Given the description of an element on the screen output the (x, y) to click on. 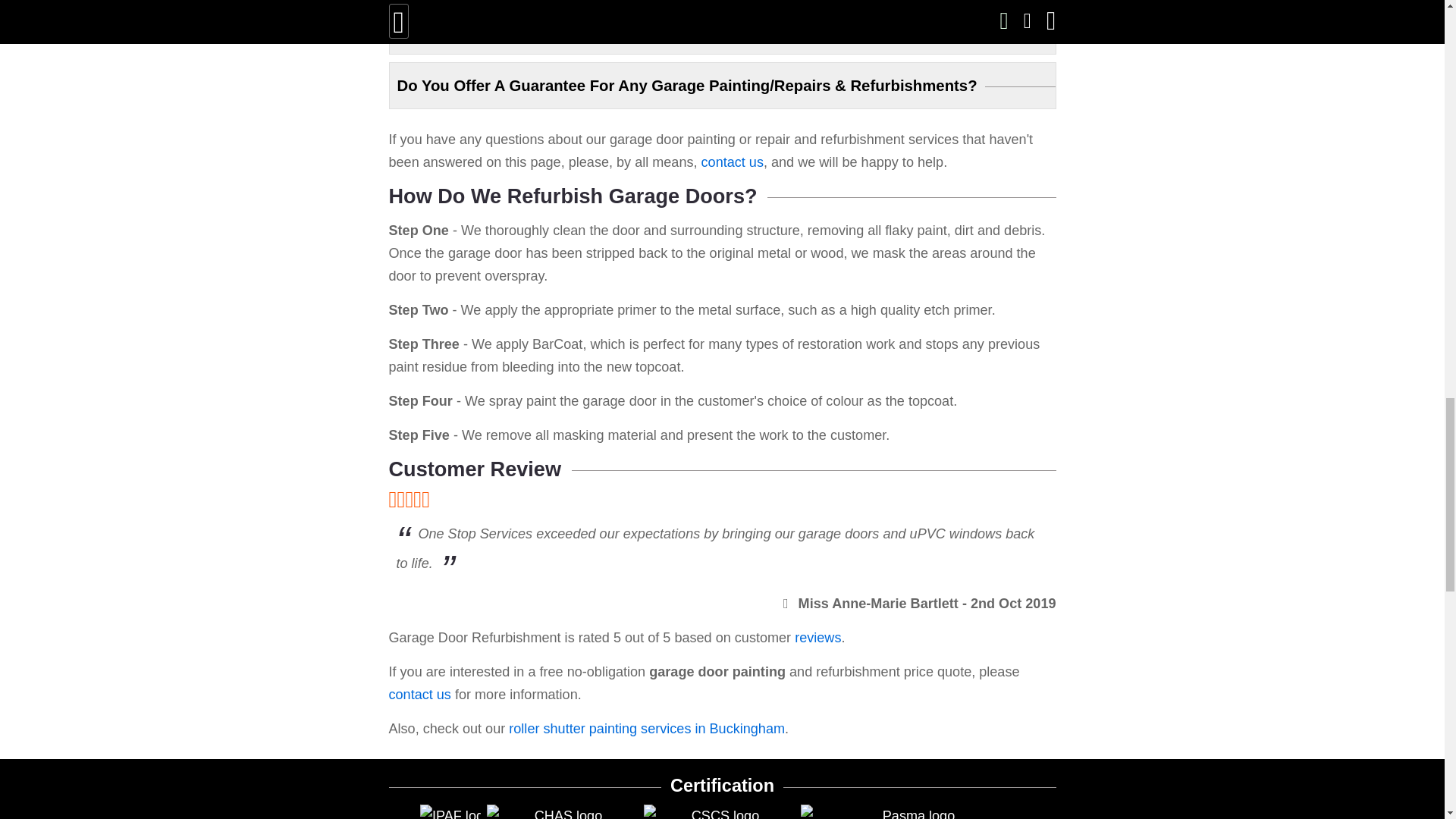
reviews (817, 637)
roller shutter painting services in Buckingham (646, 728)
contact us (731, 161)
contact us (418, 694)
